Given the description of an element on the screen output the (x, y) to click on. 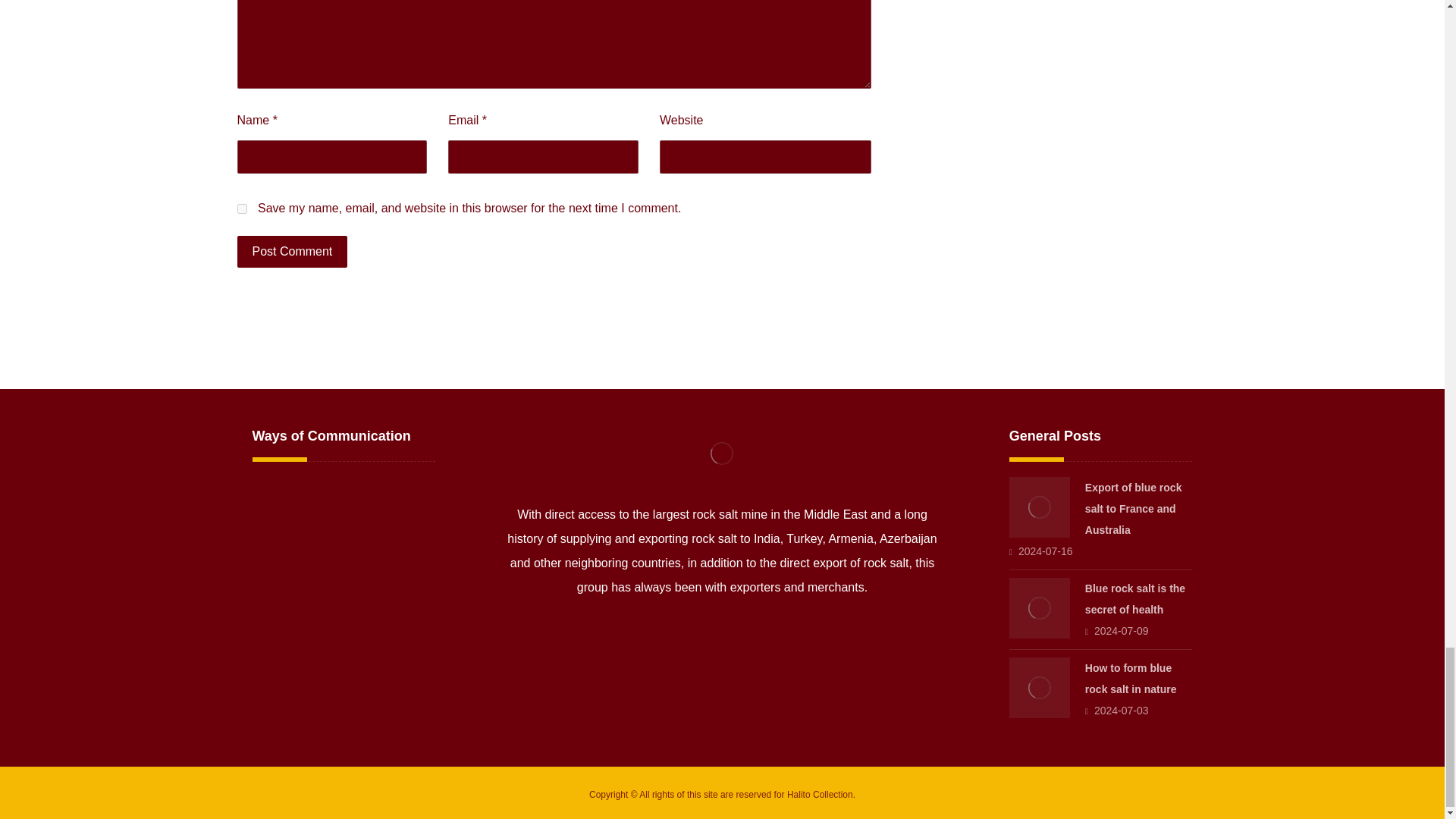
yes (240, 208)
How to form blue rock salt in nature (1130, 678)
Post Comment (291, 251)
Export of blue rock salt to France and Australia (1039, 506)
How to form blue rock salt in nature (1039, 687)
Blue rock salt is the secret of health (1134, 598)
Blue rock salt is the secret of health (1039, 608)
Export of blue rock salt to France and Australia (1133, 508)
